Given the description of an element on the screen output the (x, y) to click on. 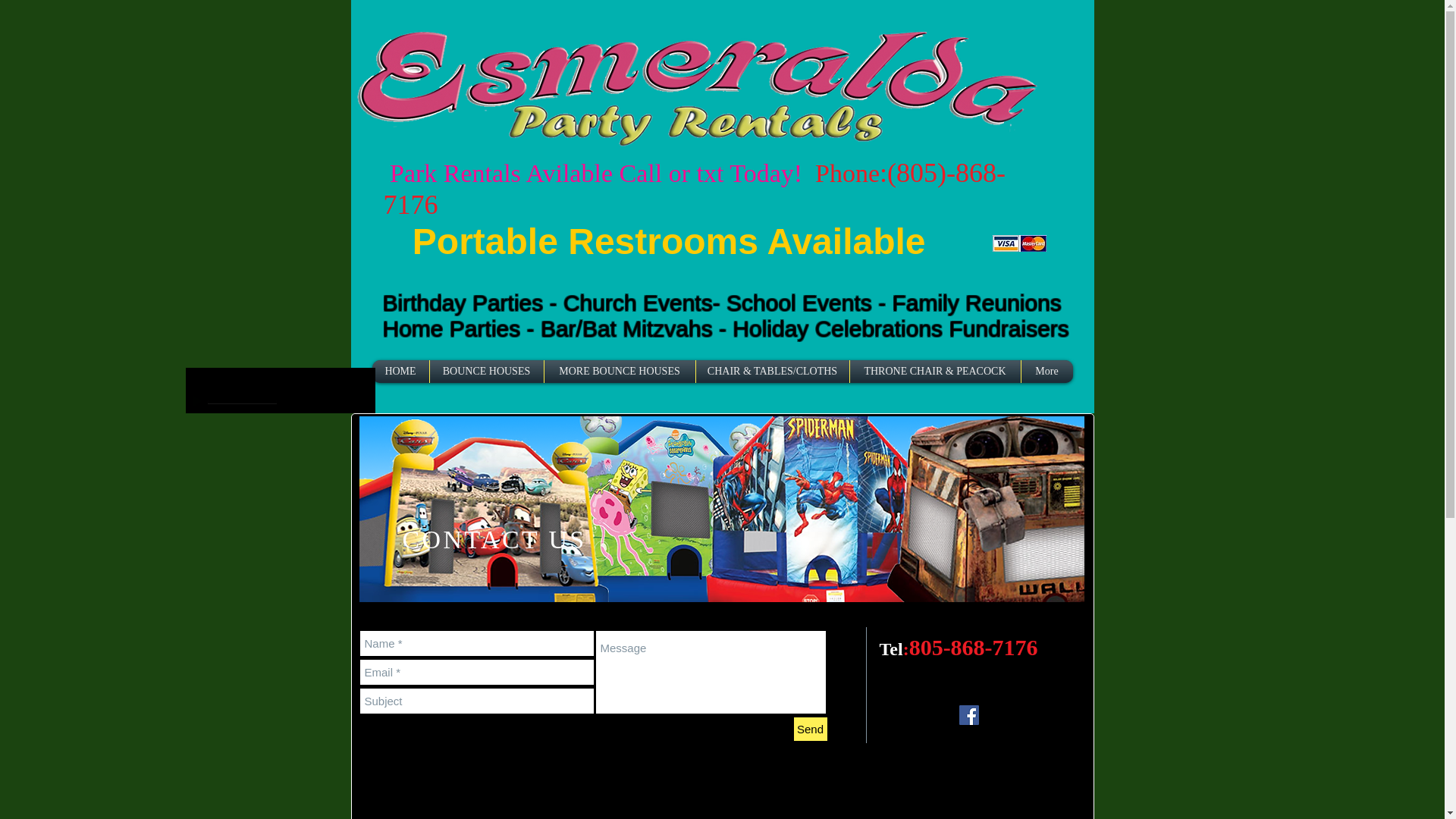
BOUNCE HOUSES (486, 371)
MORE BOUNCE HOUSES (618, 371)
0 (242, 402)
HOME (400, 371)
Send (810, 729)
